Given the description of an element on the screen output the (x, y) to click on. 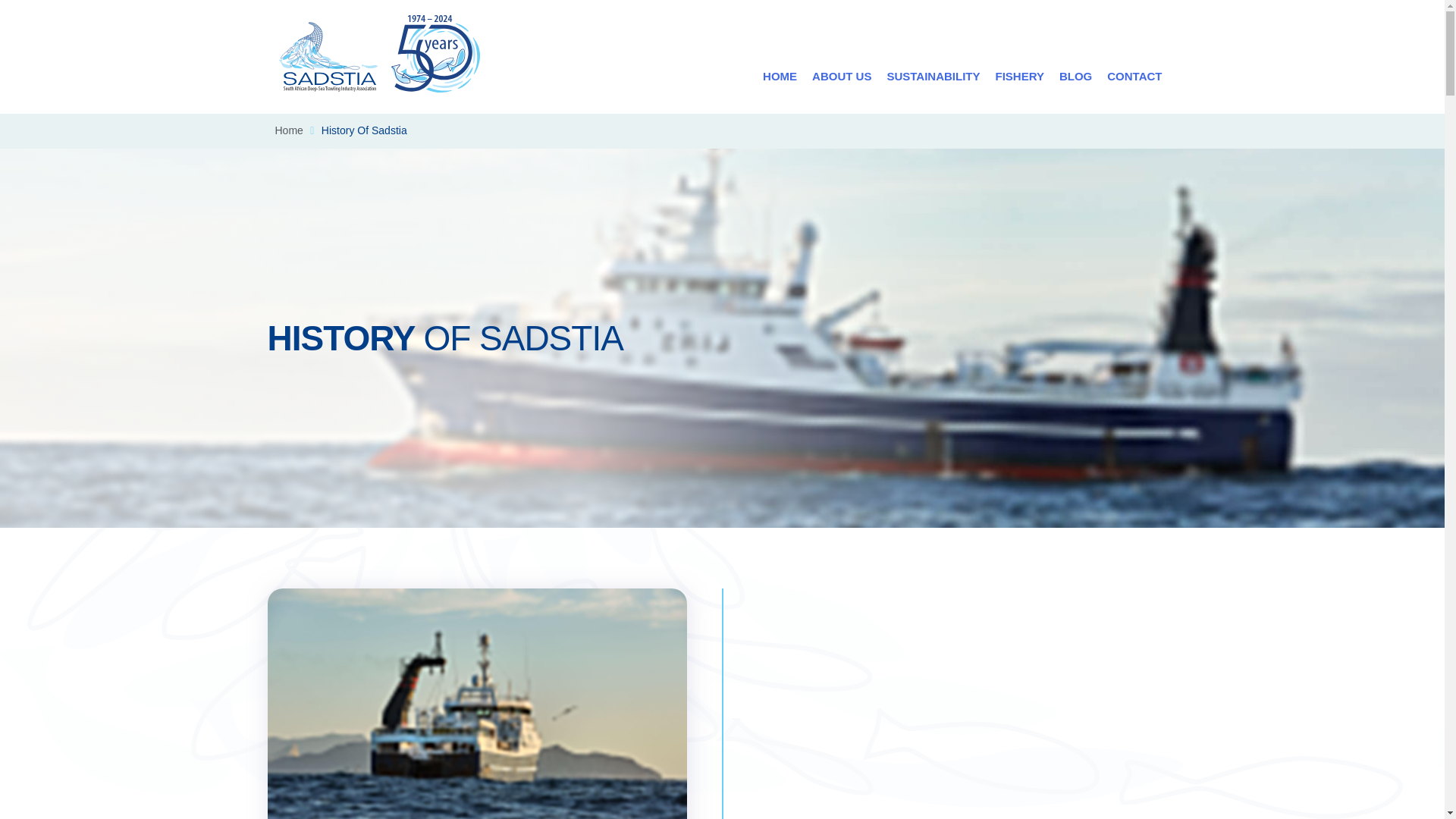
CONTACT (1134, 76)
Home (288, 130)
BLOG (1075, 76)
FISHERY (1019, 76)
Home (288, 130)
HOME (780, 76)
SUSTAINABILITY (933, 76)
ABOUT US (842, 76)
